Given the description of an element on the screen output the (x, y) to click on. 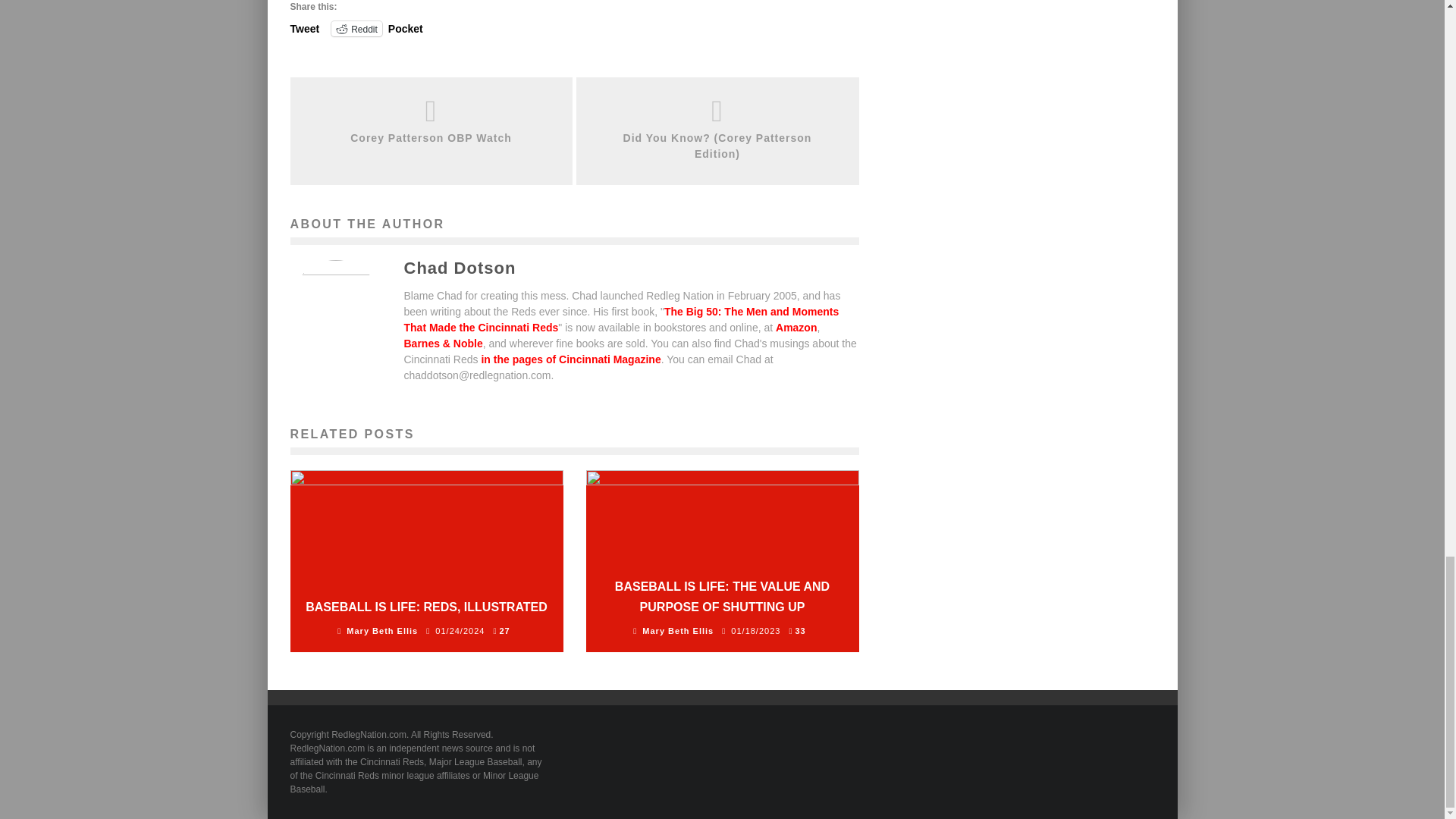
Click to share on Reddit (356, 28)
Tweet (303, 28)
